Given the description of an element on the screen output the (x, y) to click on. 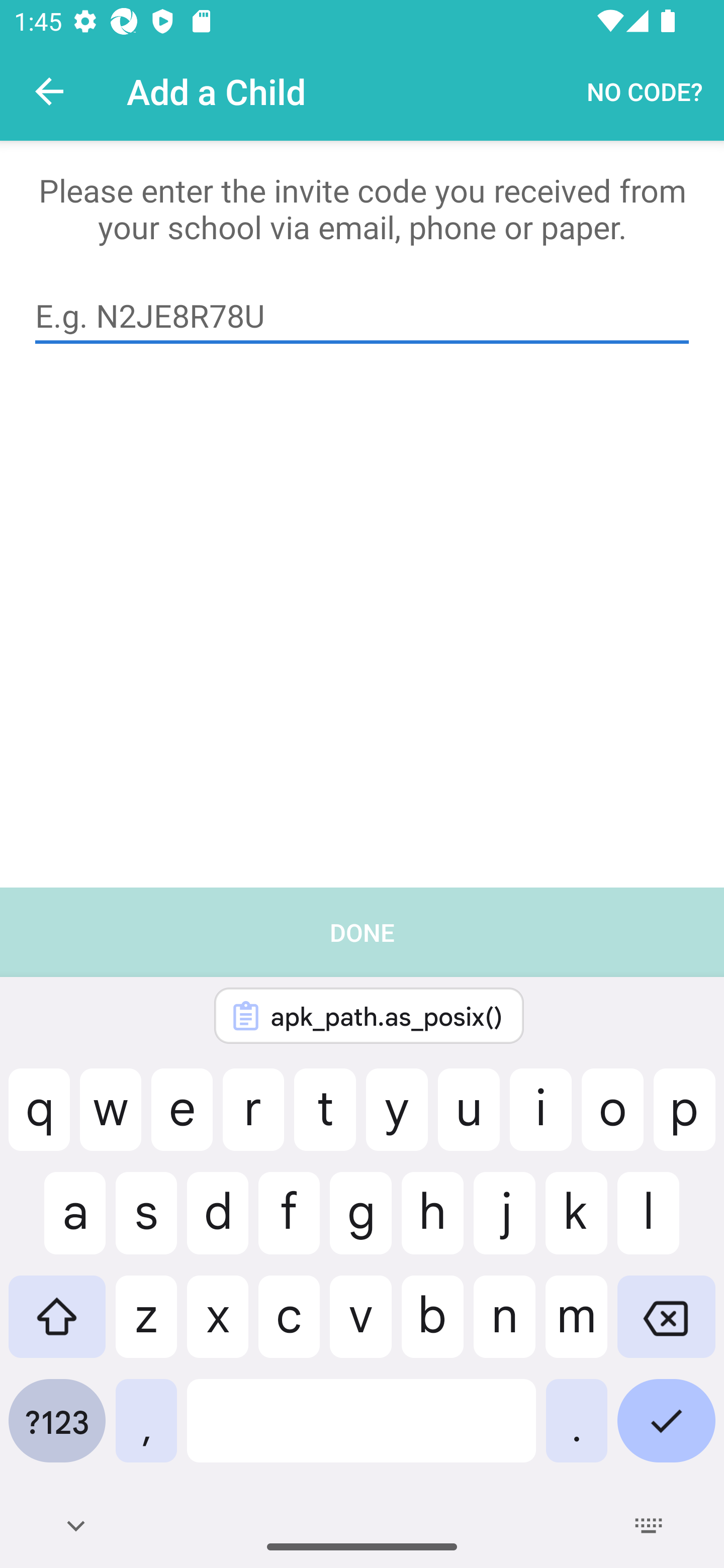
Navigate up (49, 91)
NO CODE? (644, 90)
E.g. N2JE8R78U (361, 315)
DONE (362, 1227)
